Given the description of an element on the screen output the (x, y) to click on. 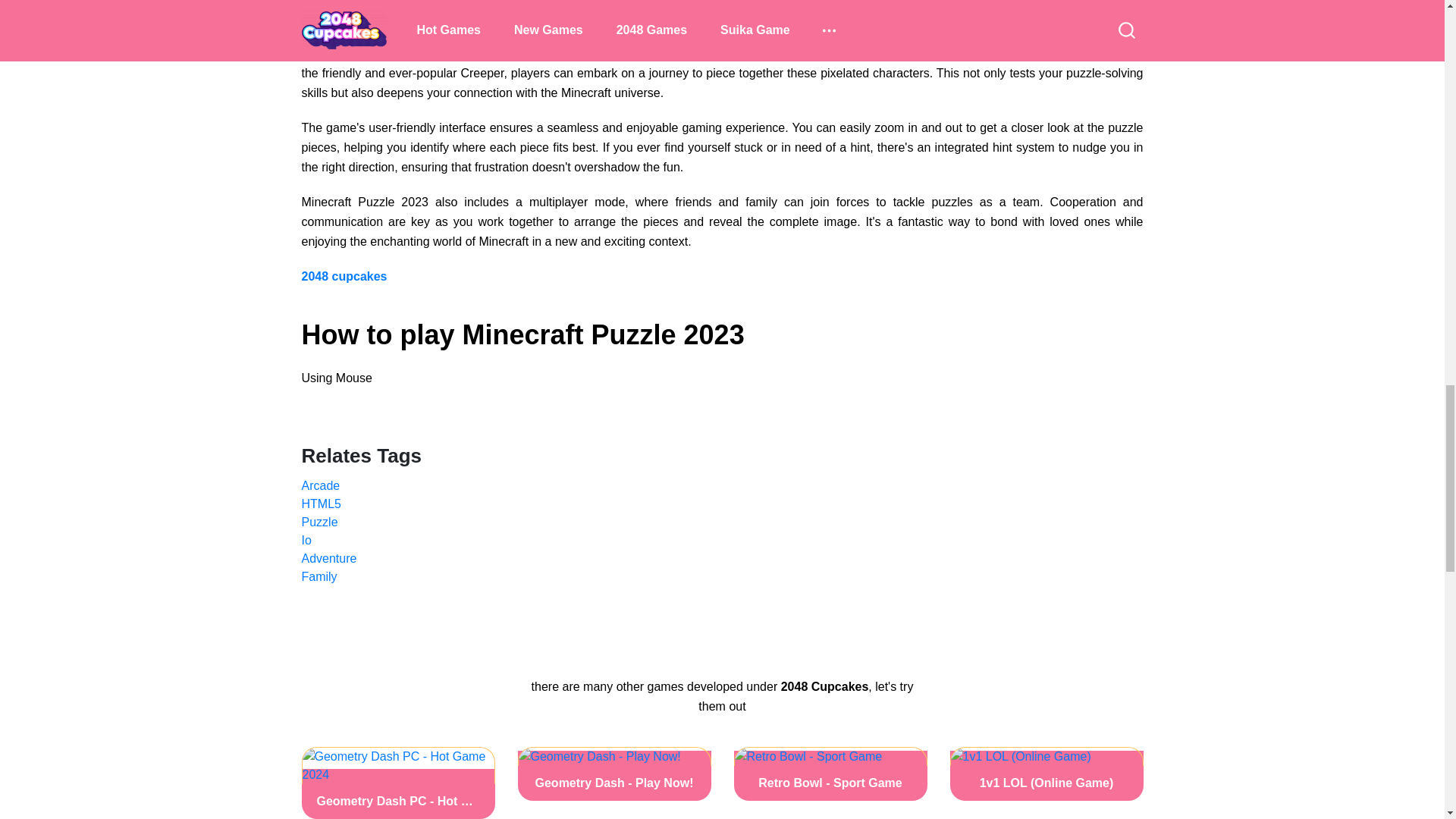
Io (721, 540)
Arcade (721, 485)
Geometry Dash PC - Hot Game 2024 (398, 782)
Adventure (721, 558)
Puzzle (721, 522)
2048 cupcakes (344, 276)
HTML5 (721, 504)
Retro Bowl - Sport Game (830, 773)
Geometry Dash - Play Now! (613, 773)
Family (721, 577)
